Given the description of an element on the screen output the (x, y) to click on. 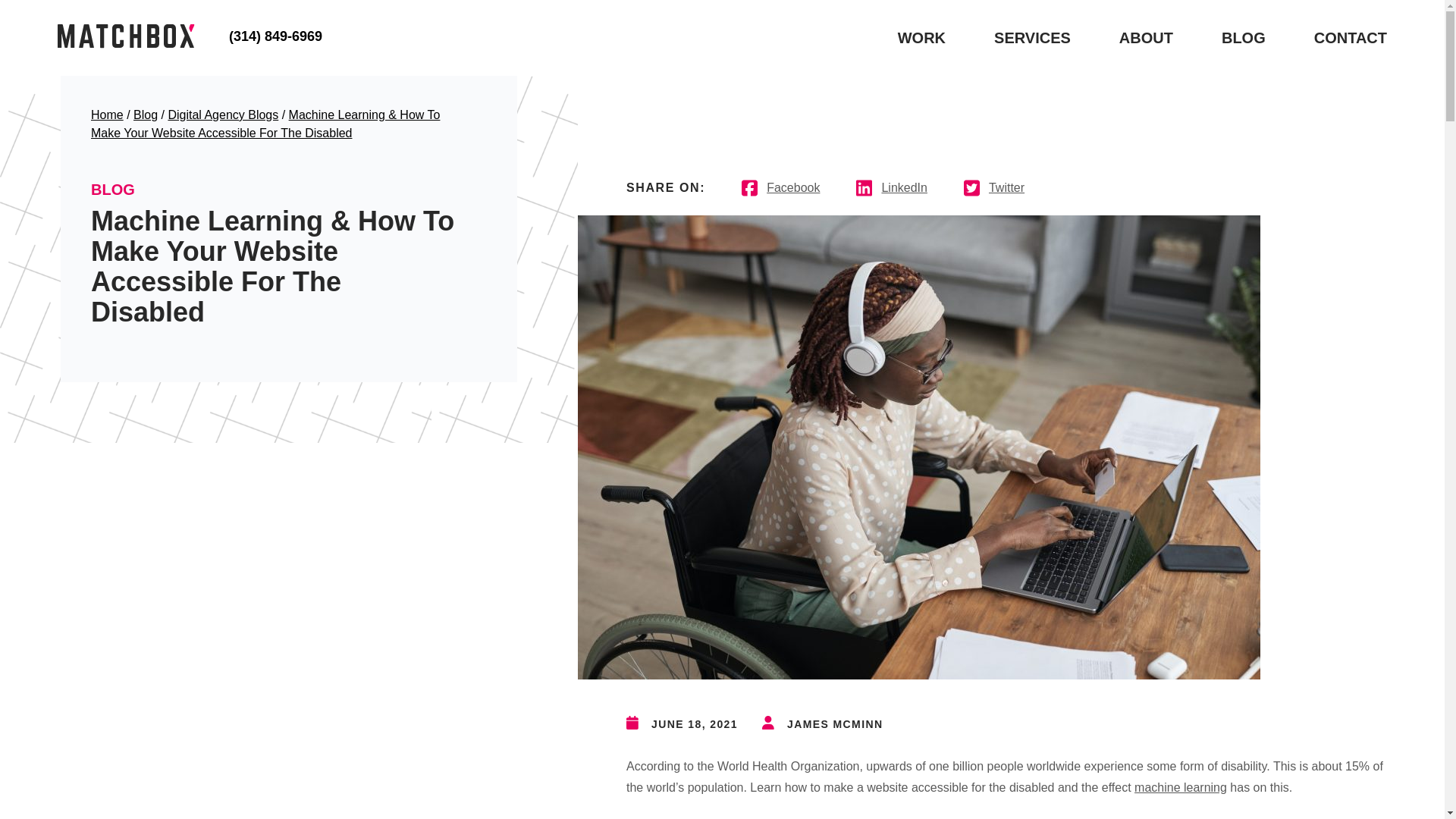
Go to Matchbox Design Group. (106, 114)
Home (106, 114)
LinkedIn (891, 187)
machine learning (1180, 787)
Twitter (993, 187)
Blog (145, 114)
Go to the Digital Agency Blogs category archives. (222, 114)
Facebook (780, 187)
CONTACT (1350, 37)
WORK (921, 37)
SERVICES (1032, 37)
BLOG (1243, 37)
Go to Blog. (145, 114)
Digital Agency Blogs (222, 114)
ABOUT (1146, 37)
